Given the description of an element on the screen output the (x, y) to click on. 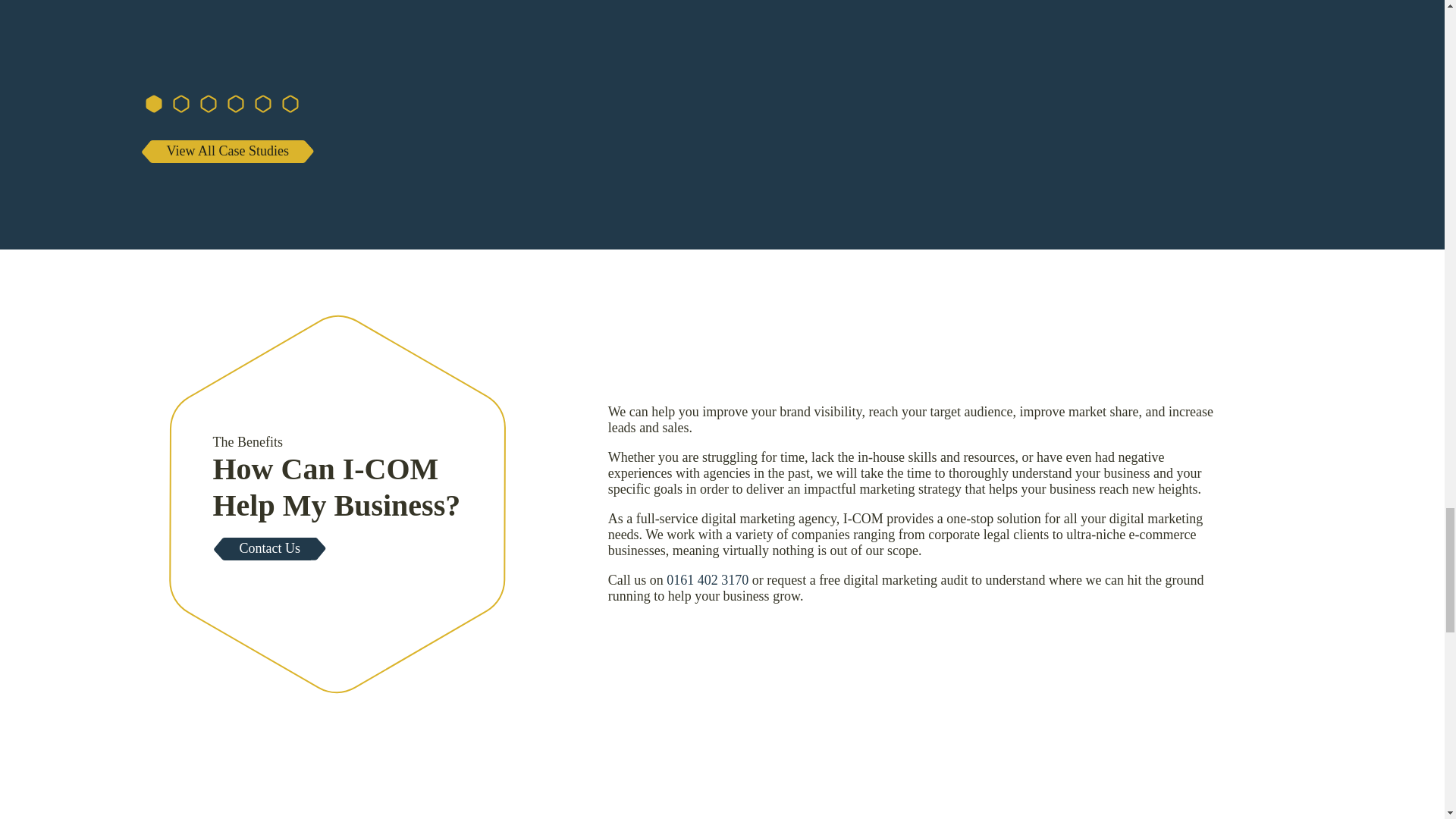
0161 402 3170 (707, 580)
Contact Us (269, 548)
View All Case Studies (226, 151)
